Given the description of an element on the screen output the (x, y) to click on. 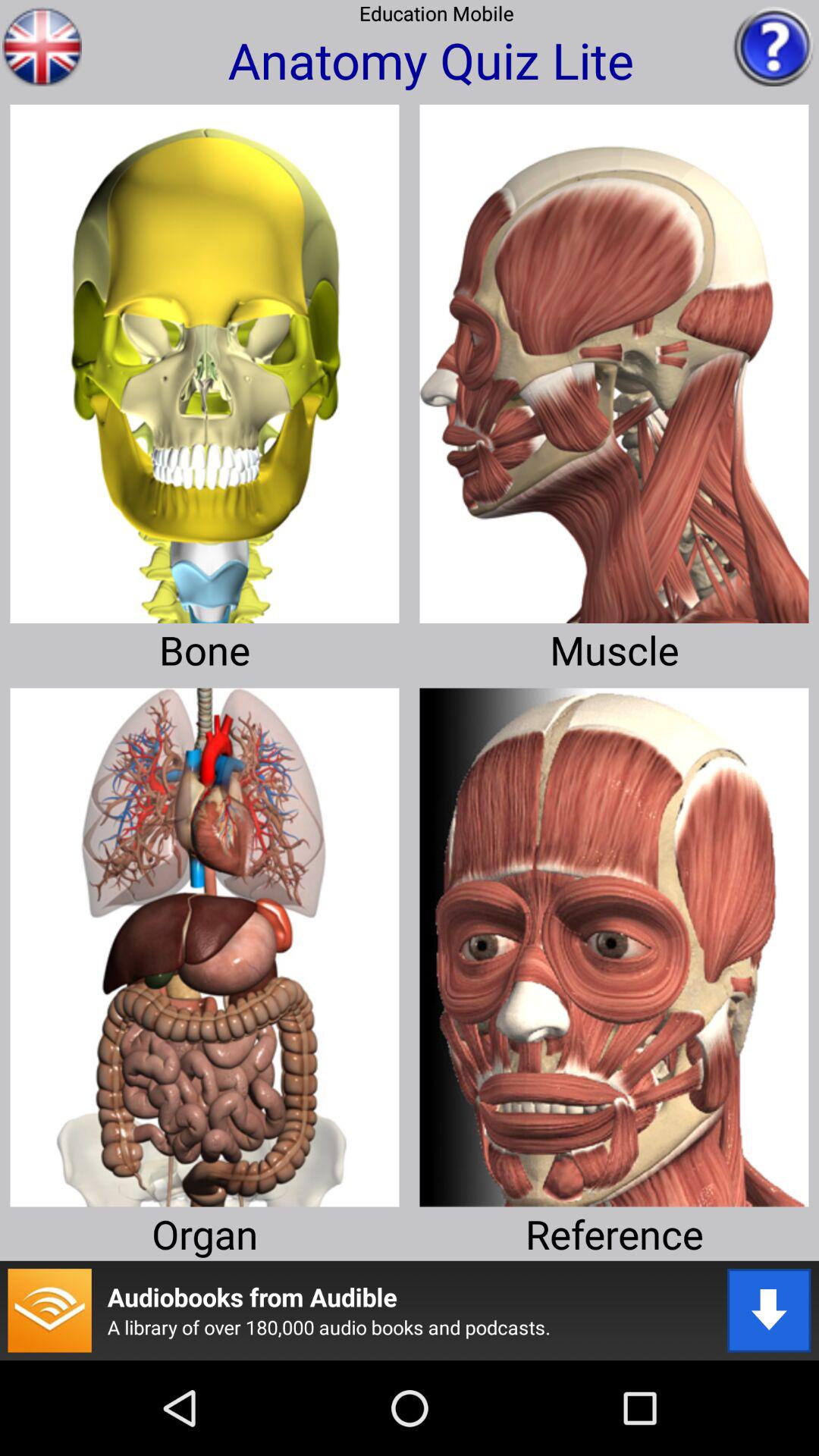
get a help (773, 46)
